Given the description of an element on the screen output the (x, y) to click on. 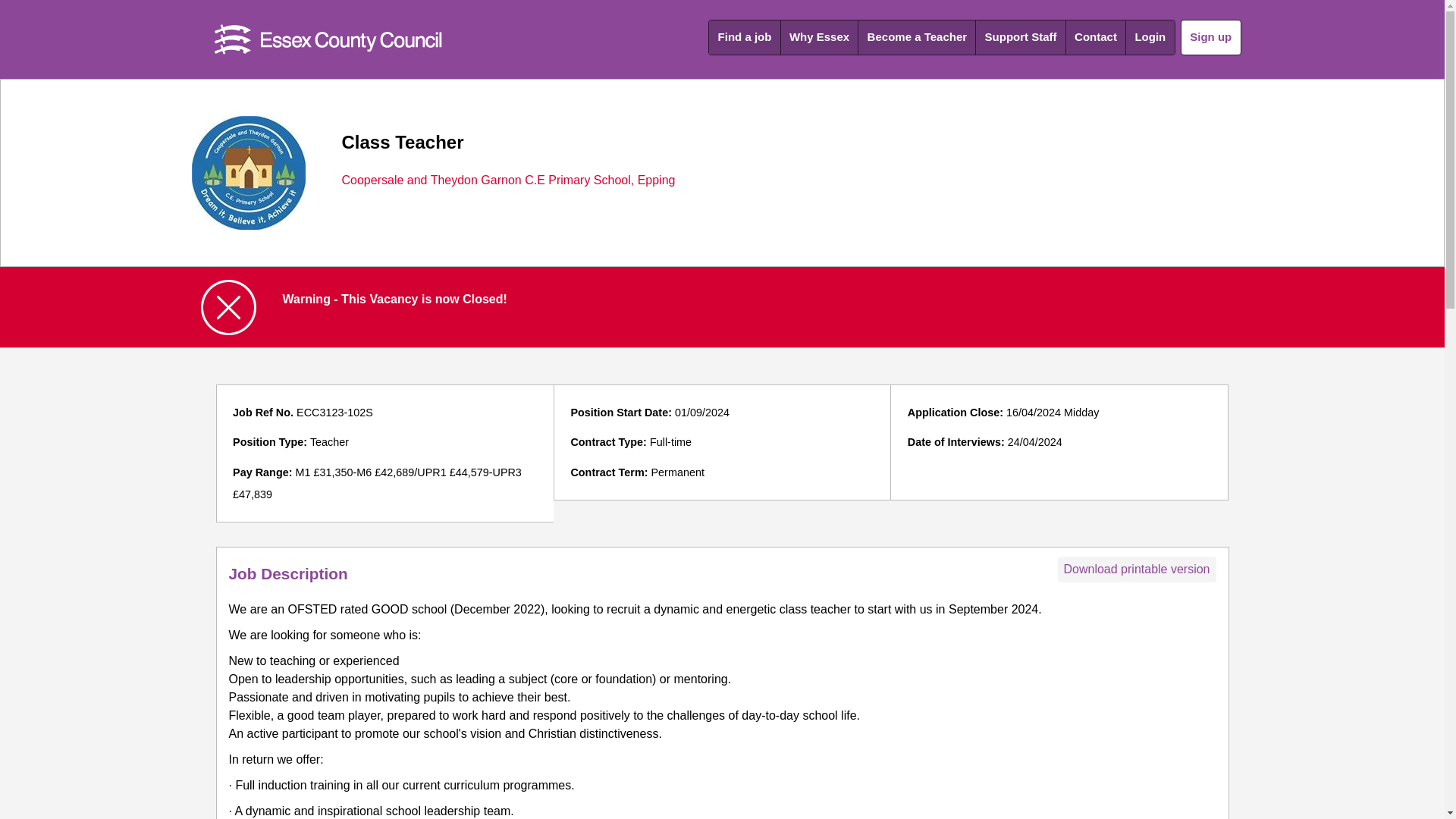
Coopersale and Theydon Garnon C.E Primary School, Epping (507, 180)
Support Staff (1020, 37)
Find a job (743, 37)
Login (1149, 37)
Become a Teacher (917, 37)
Why Essex (819, 37)
Contact (1095, 37)
Download printable version (1136, 569)
Sign up (1210, 37)
